Given the description of an element on the screen output the (x, y) to click on. 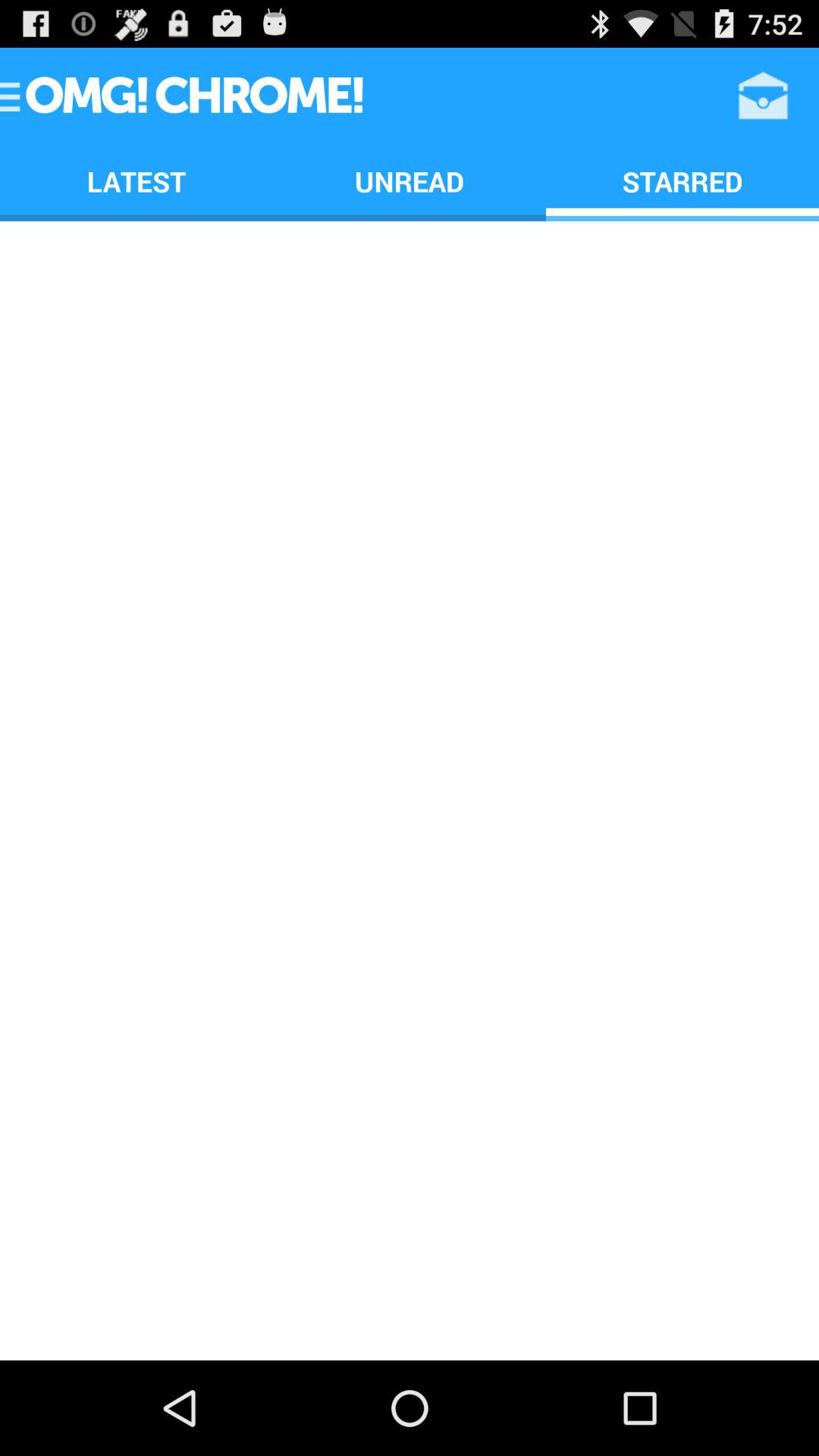
press item to the right of the unread app (682, 181)
